Given the description of an element on the screen output the (x, y) to click on. 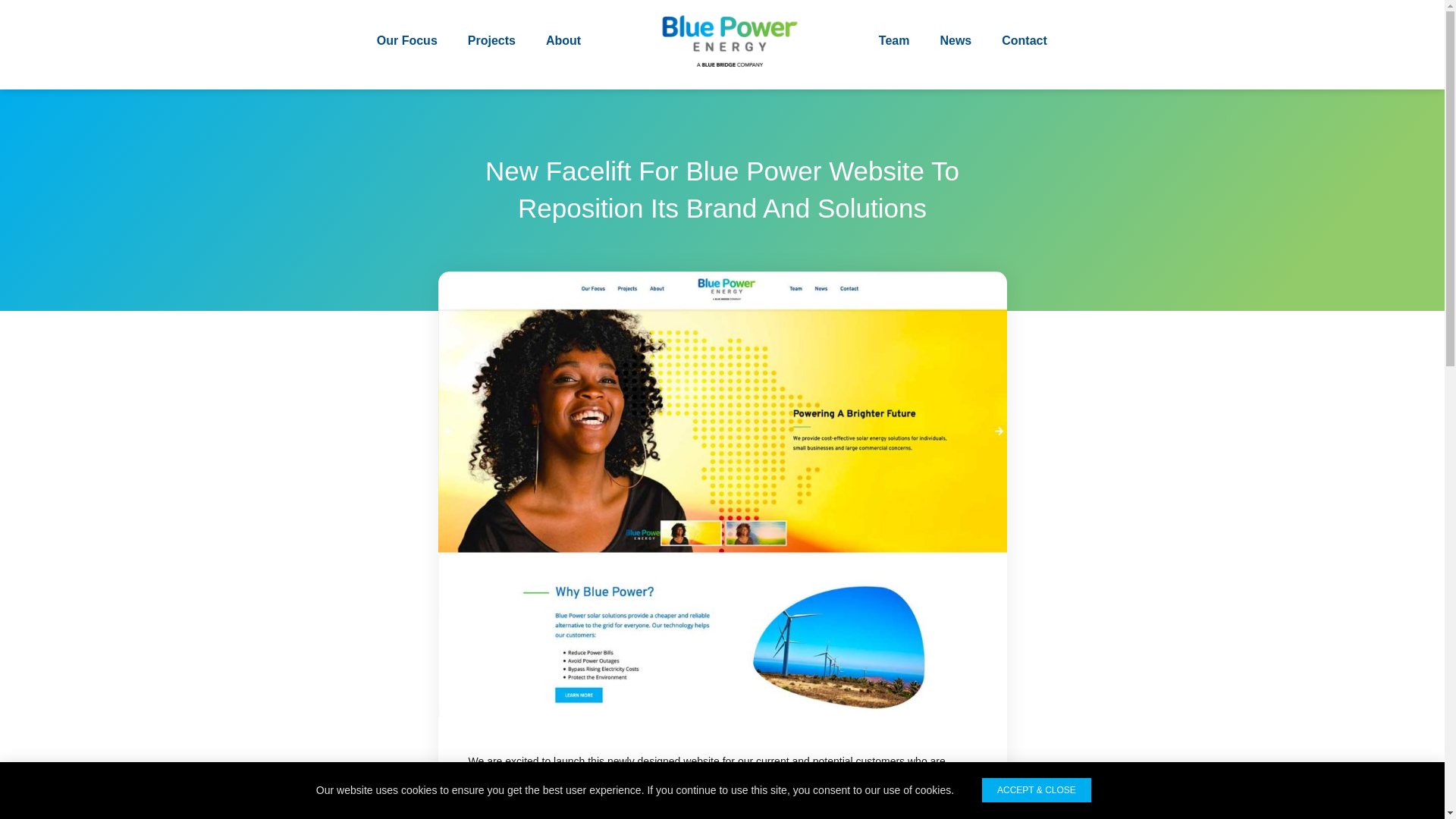
Team (893, 40)
Our Focus (406, 40)
News (955, 40)
Projects (491, 40)
About (563, 40)
Contact (1024, 40)
